Given the description of an element on the screen output the (x, y) to click on. 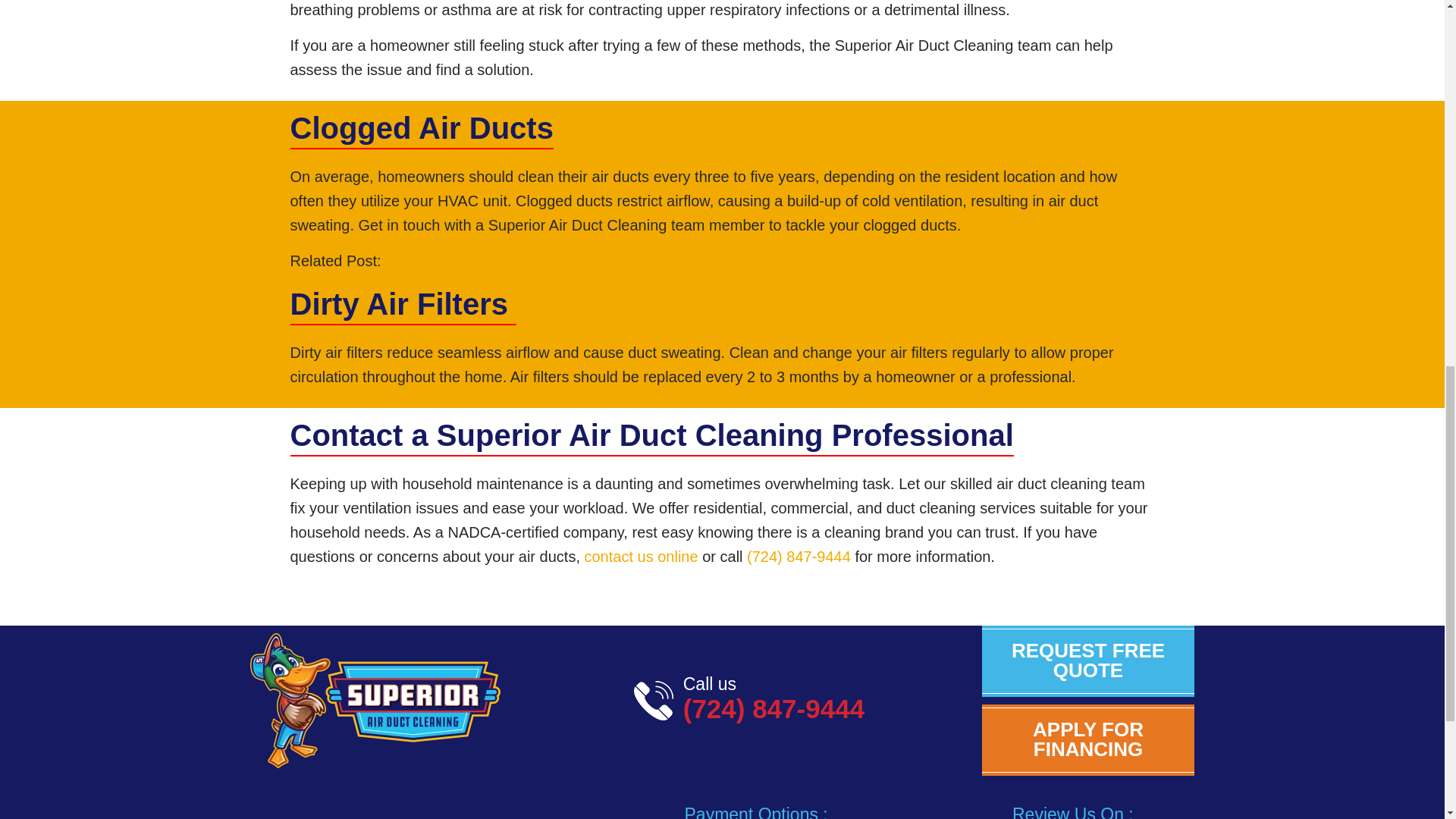
What are the 3 best methods of Air Duct Cleaning (551, 260)
contact us online (640, 556)
